Given the description of an element on the screen output the (x, y) to click on. 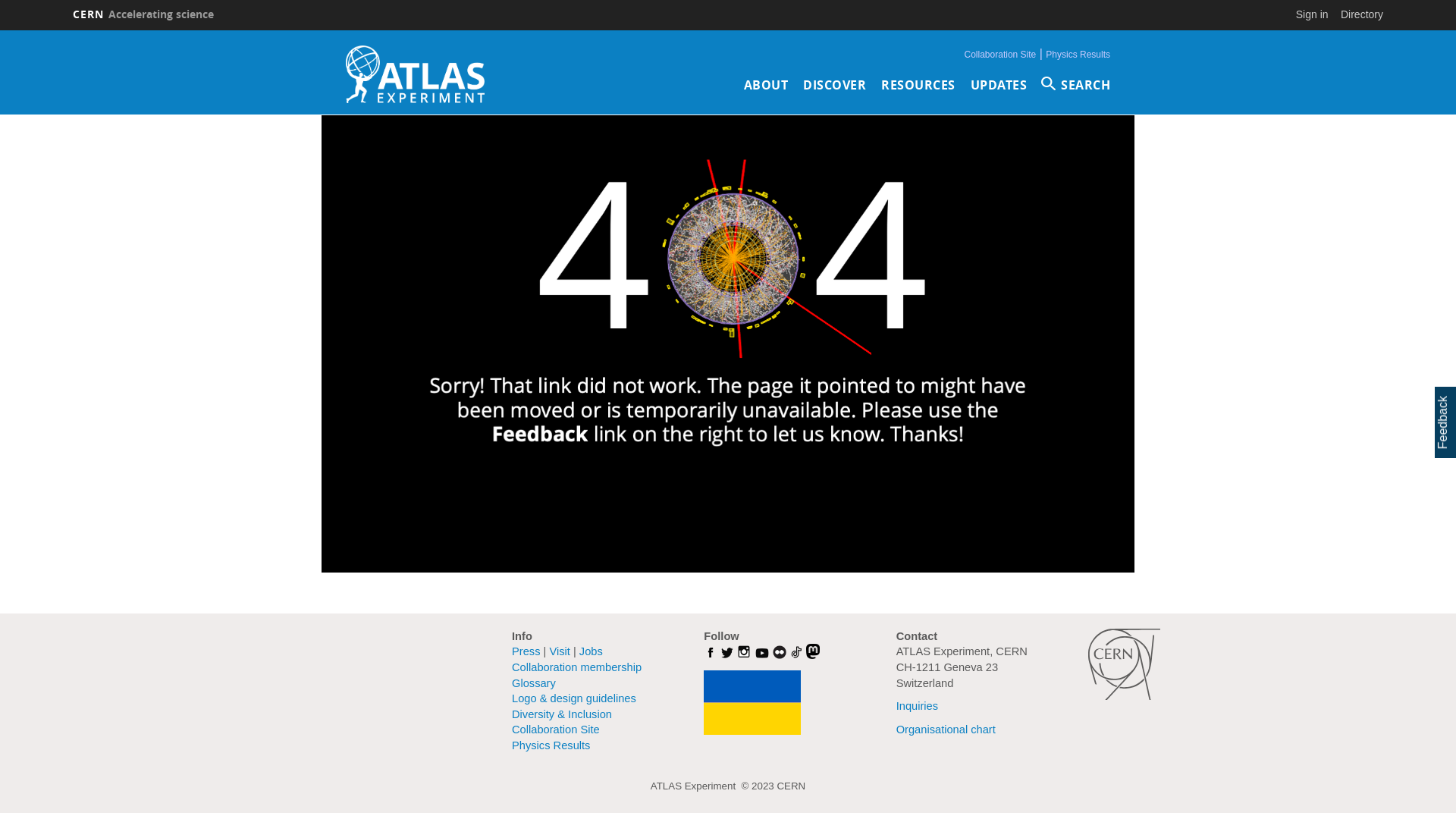
RESOURCES Element type: text (918, 84)
Jobs Element type: text (590, 651)
Inquiries Element type: text (917, 705)
Directory Element type: text (1361, 14)
ABOUT Element type: text (765, 84)
Physics Results Element type: text (550, 745)
Home Element type: hover (414, 74)
Press Element type: text (525, 651)
Diversity & Inclusion Element type: text (561, 714)
Organisational chart Element type: text (945, 729)
Logo & design guidelines Element type: text (573, 698)
SEARCH Element type: text (1075, 84)
Collaboration Site Element type: text (555, 729)
Collaboration membership Element type: text (576, 667)
UPDATES Element type: text (998, 84)
Physics Results Element type: text (1077, 54)
Visit Element type: text (559, 651)
Glossary Element type: text (533, 682)
CERN Element type: hover (1124, 663)
Sign in Element type: text (1311, 14)
CERN Accelerating science Element type: text (142, 14)
DISCOVER Element type: text (834, 84)
Skip to main content Element type: text (0, 30)
Collaboration Site Element type: text (1000, 54)
